Given the description of an element on the screen output the (x, y) to click on. 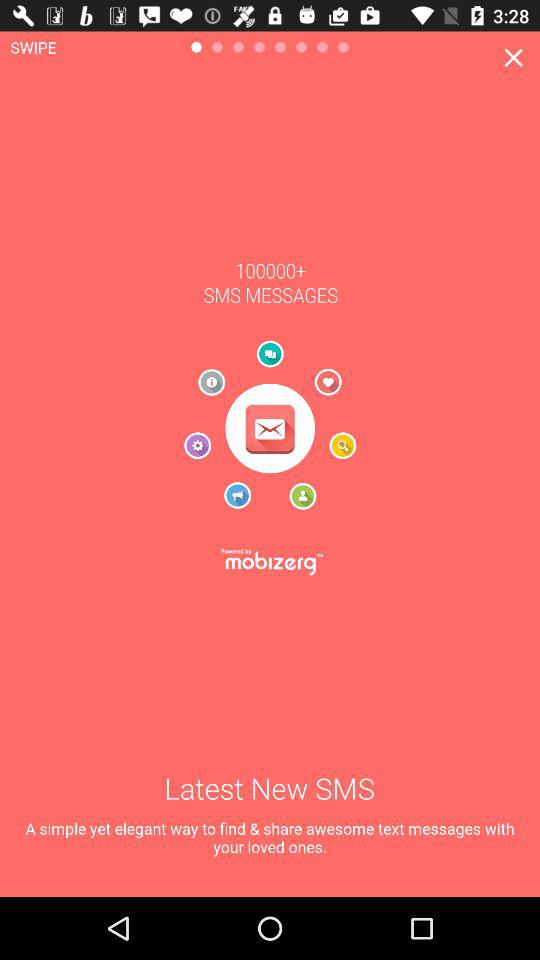
close window (513, 57)
